Given the description of an element on the screen output the (x, y) to click on. 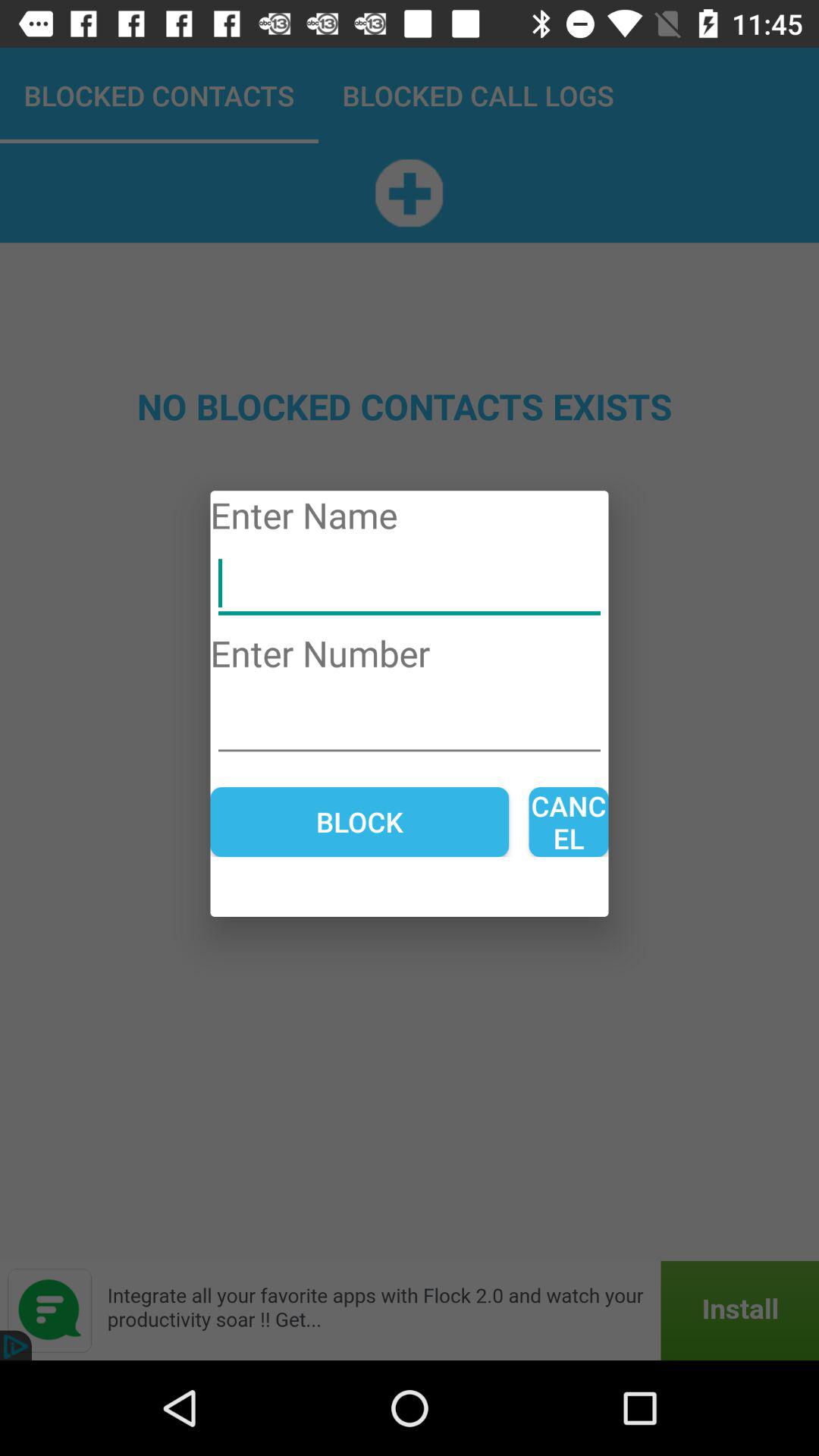
turn on button on the right (568, 822)
